Given the description of an element on the screen output the (x, y) to click on. 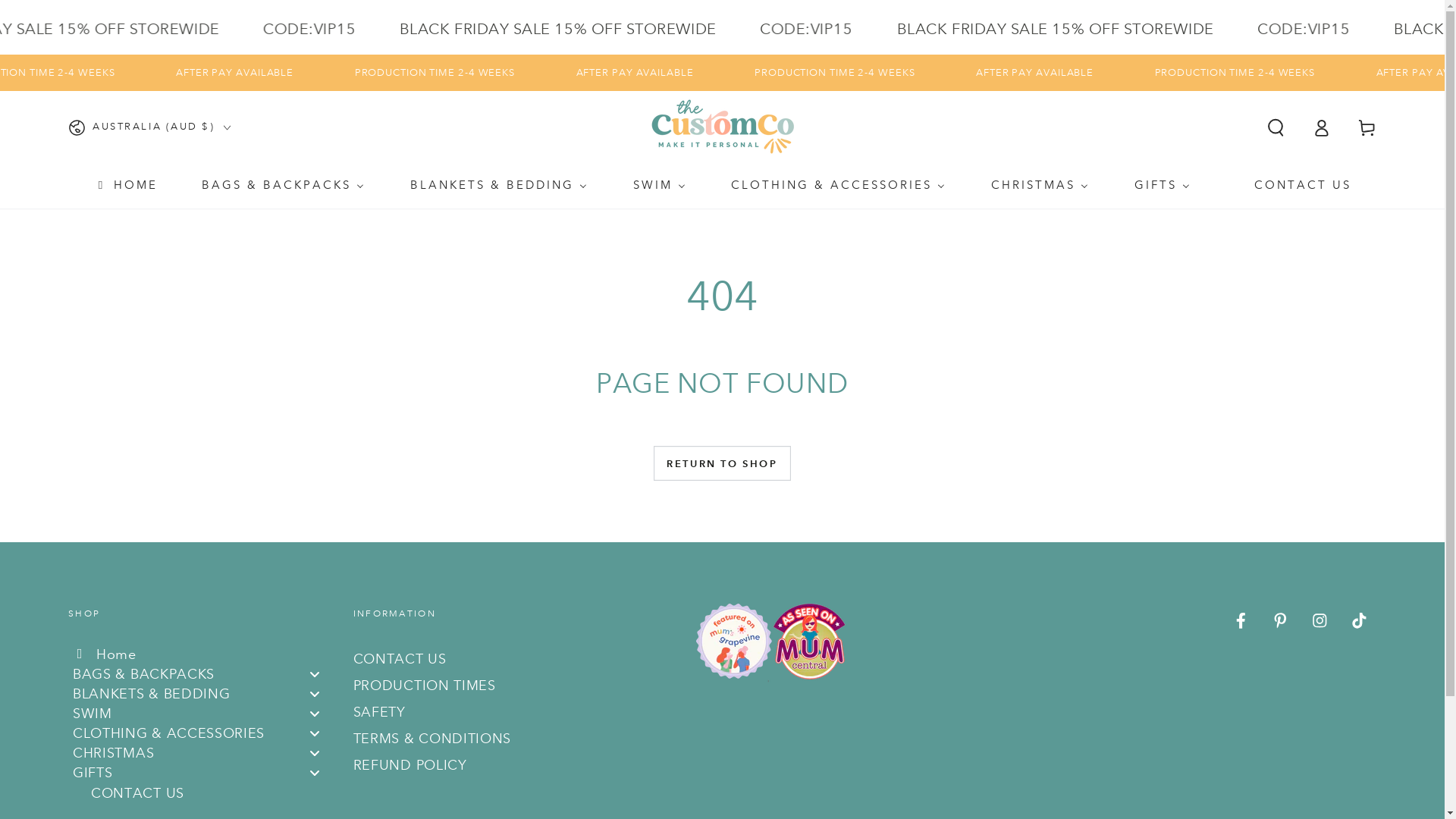
BLANKETS & BEDDING Element type: text (499, 185)
Toggle menu Element type: hover (314, 673)
Toggle menu Element type: hover (314, 733)
Toggle menu Element type: hover (314, 753)
PRODUCTION TIMES Element type: text (424, 685)
Facebook Element type: text (1240, 620)
CONTACT US Element type: text (1292, 185)
Instagram Element type: text (1319, 620)
AUSTRALIA (AUD $) Element type: text (149, 127)
GIFTS Element type: text (1162, 185)
CLOTHING & ACCESSORIES Element type: text (838, 185)
CONTACT US Element type: text (201, 792)
CONTACT US Element type: text (399, 658)
Toggle menu Element type: hover (314, 713)
SWIM Element type: text (201, 713)
Toggle menu Element type: hover (314, 773)
SAFETY Element type: text (379, 711)
SWIM Element type: text (659, 185)
GIFTS Element type: text (201, 772)
RETURN TO SHOP Element type: text (721, 462)
CHRISTMAS Element type: text (201, 752)
BLANKETS & BEDDING Element type: text (201, 693)
BAGS & BACKPACKS Element type: text (283, 185)
CHRISTMAS Element type: text (1040, 185)
BAGS & BACKPACKS Element type: text (201, 674)
Toggle menu Element type: hover (314, 693)
HOME Element type: text (125, 185)
REFUND POLICY Element type: text (410, 764)
TERMS & CONDITIONS Element type: text (432, 738)
CLOTHING & ACCESSORIES Element type: text (201, 733)
Home Element type: text (201, 654)
Pinterest Element type: text (1280, 620)
TikTok Element type: text (1358, 620)
Log in Element type: text (1321, 127)
